Given the description of an element on the screen output the (x, y) to click on. 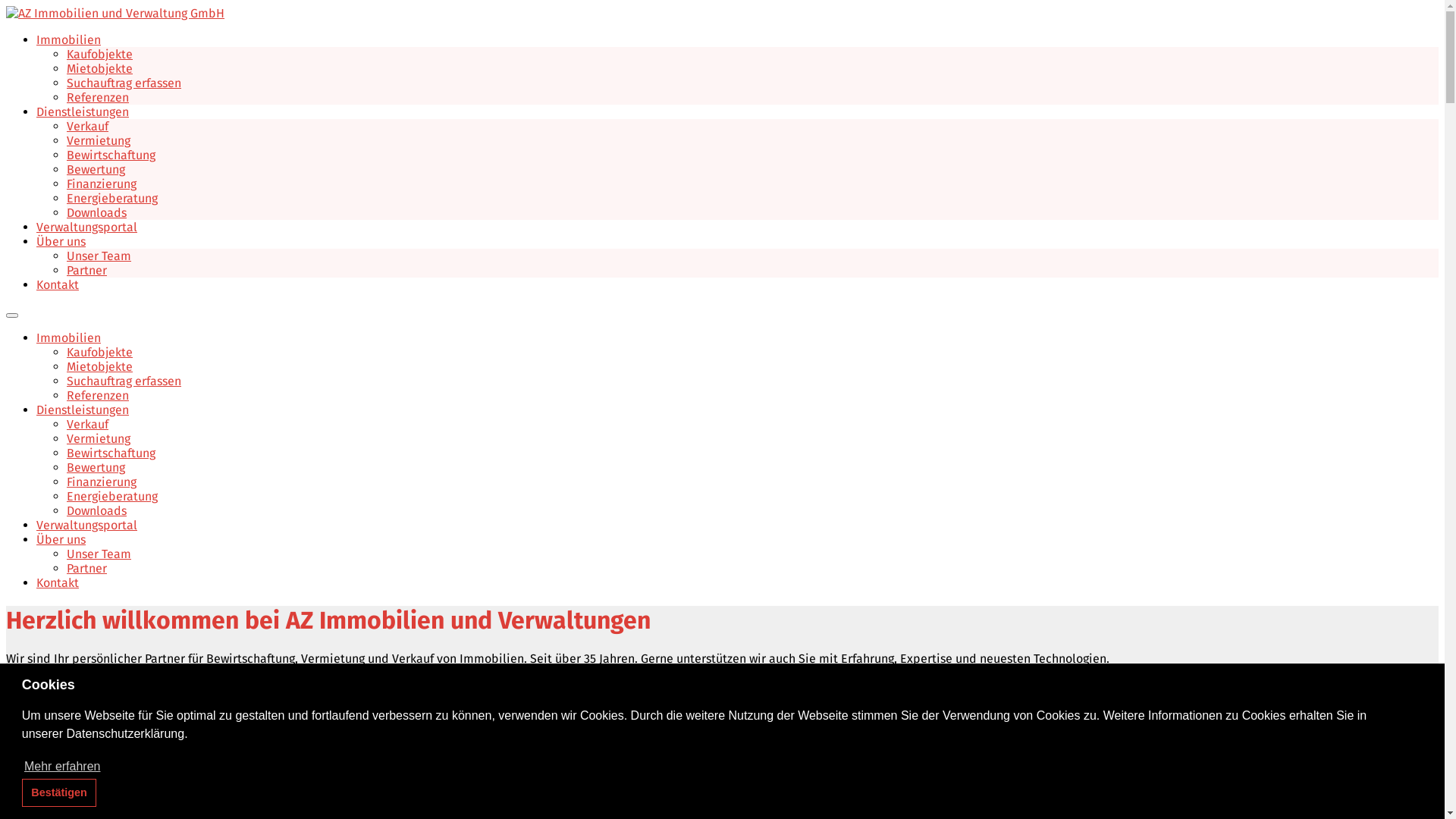
Suchauftrag erfassen Element type: text (123, 82)
Unser Team Element type: text (98, 255)
Kaufobjekte Element type: text (99, 352)
Dienstleistungen Element type: text (82, 111)
Mietobjekte Element type: text (99, 366)
Kaufobjekte Element type: text (99, 54)
Energieberatung Element type: text (111, 496)
Finanzierung Element type: text (101, 183)
Referenzen Element type: text (97, 395)
Verkauf Element type: text (87, 126)
Bewertung Element type: text (95, 169)
Bewirtschaftung Element type: text (110, 452)
Immobilien Element type: text (68, 39)
Vermietung Element type: text (98, 438)
Unser Team Element type: text (98, 553)
Bewirtschaftung Element type: text (110, 154)
Kontakt Element type: text (57, 284)
Mietobjekte Element type: text (99, 68)
Suchauftrag erfassen Element type: text (123, 380)
Verkauf Element type: text (87, 424)
Partner Element type: text (86, 270)
Kontakt Element type: text (57, 582)
Downloads Element type: text (96, 510)
Dienstleistungen Element type: text (82, 409)
Vermietung Element type: text (98, 140)
Immobilien Element type: text (68, 337)
Mehr erfahren Element type: text (62, 766)
Energieberatung Element type: text (111, 198)
Bewertung Element type: text (95, 467)
Finanzierung Element type: text (101, 481)
Partner Element type: text (86, 568)
Verwaltungsportal Element type: text (86, 524)
Referenzen Element type: text (97, 97)
Verwaltungsportal Element type: text (86, 226)
Downloads Element type: text (96, 212)
